Given the description of an element on the screen output the (x, y) to click on. 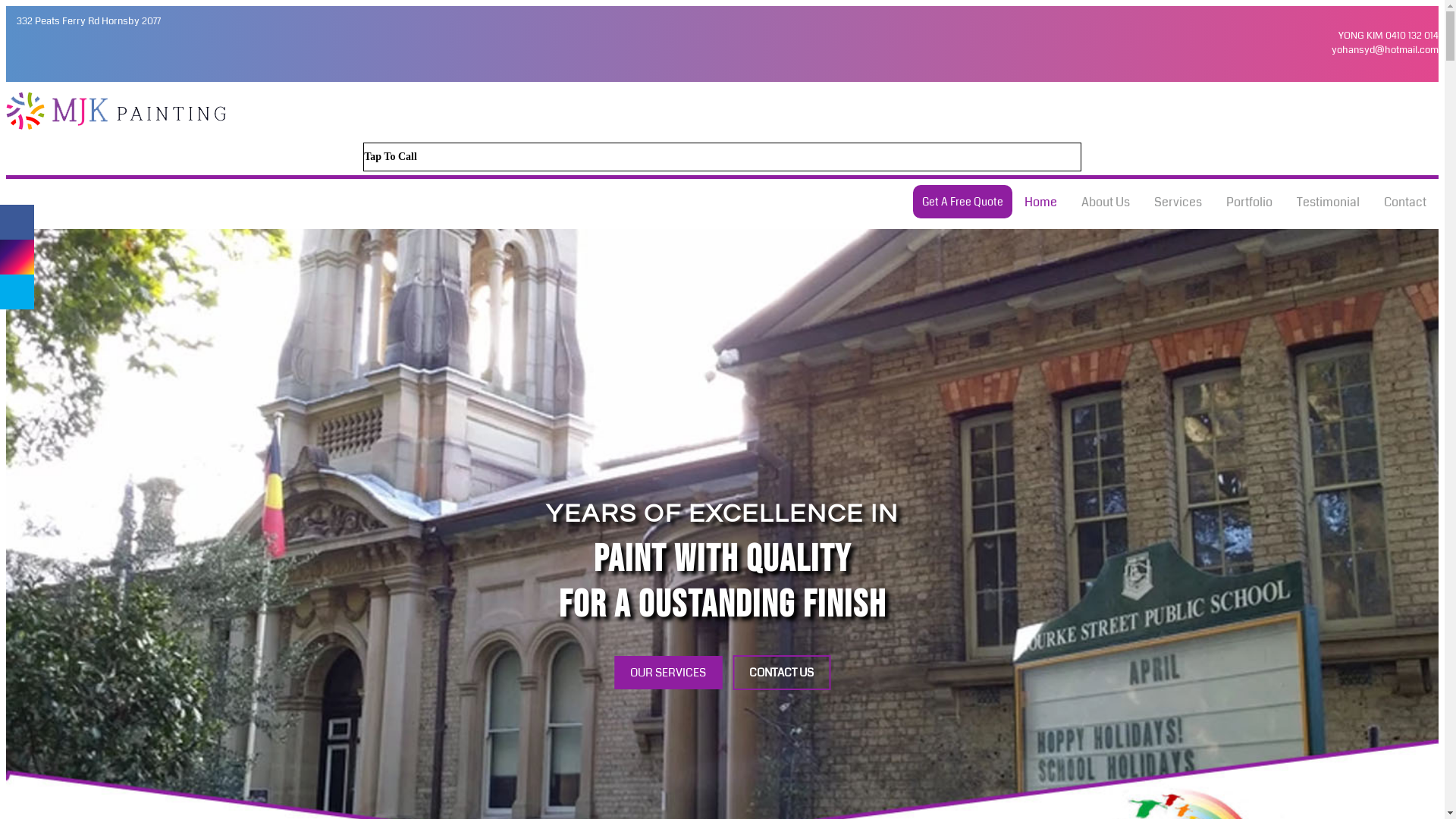
OUR SERVICES Element type: text (667, 672)
Home Element type: text (1040, 202)
Get A Free Quote Element type: text (962, 201)
About Us Element type: text (1105, 202)
CONTACT US Element type: text (781, 671)
YONG KIM 0410 132 014 Element type: text (1388, 35)
CONTACT US Element type: text (781, 672)
Portfolio Element type: text (1249, 202)
share with: instagram Element type: hover (17, 256)
Tap To Call Element type: text (722, 156)
Services Element type: text (1178, 202)
share with: twitter Element type: hover (17, 291)
yohansyd@hotmail.com Element type: text (1384, 49)
Testimonial Element type: text (1327, 202)
share with: facebook Element type: hover (17, 221)
332 Peats Ferry Rd Hornsby 2077 Element type: text (88, 21)
OUR SERVICES Element type: text (667, 671)
Contact Element type: text (1404, 202)
